Given the description of an element on the screen output the (x, y) to click on. 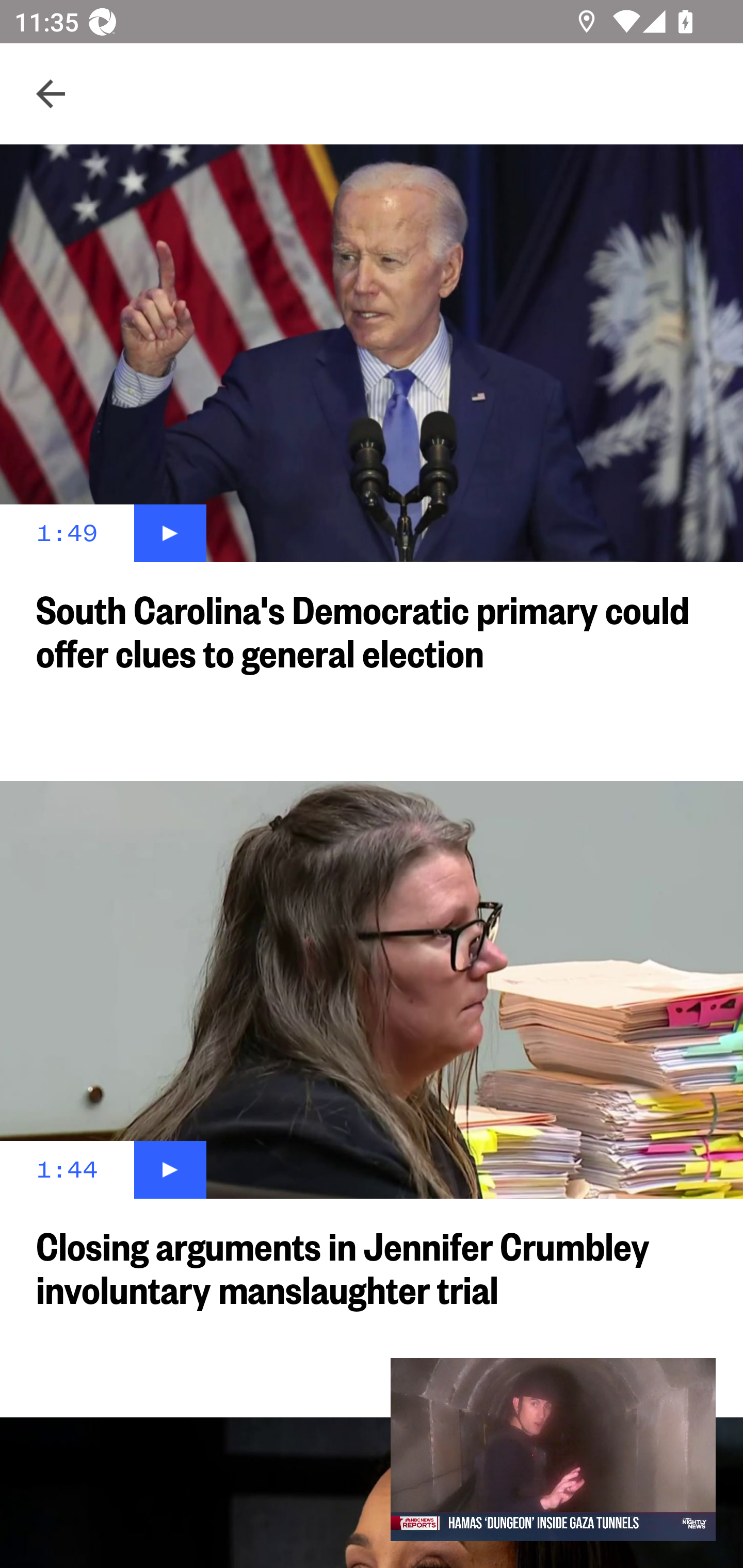
Navigate up (50, 93)
